Given the description of an element on the screen output the (x, y) to click on. 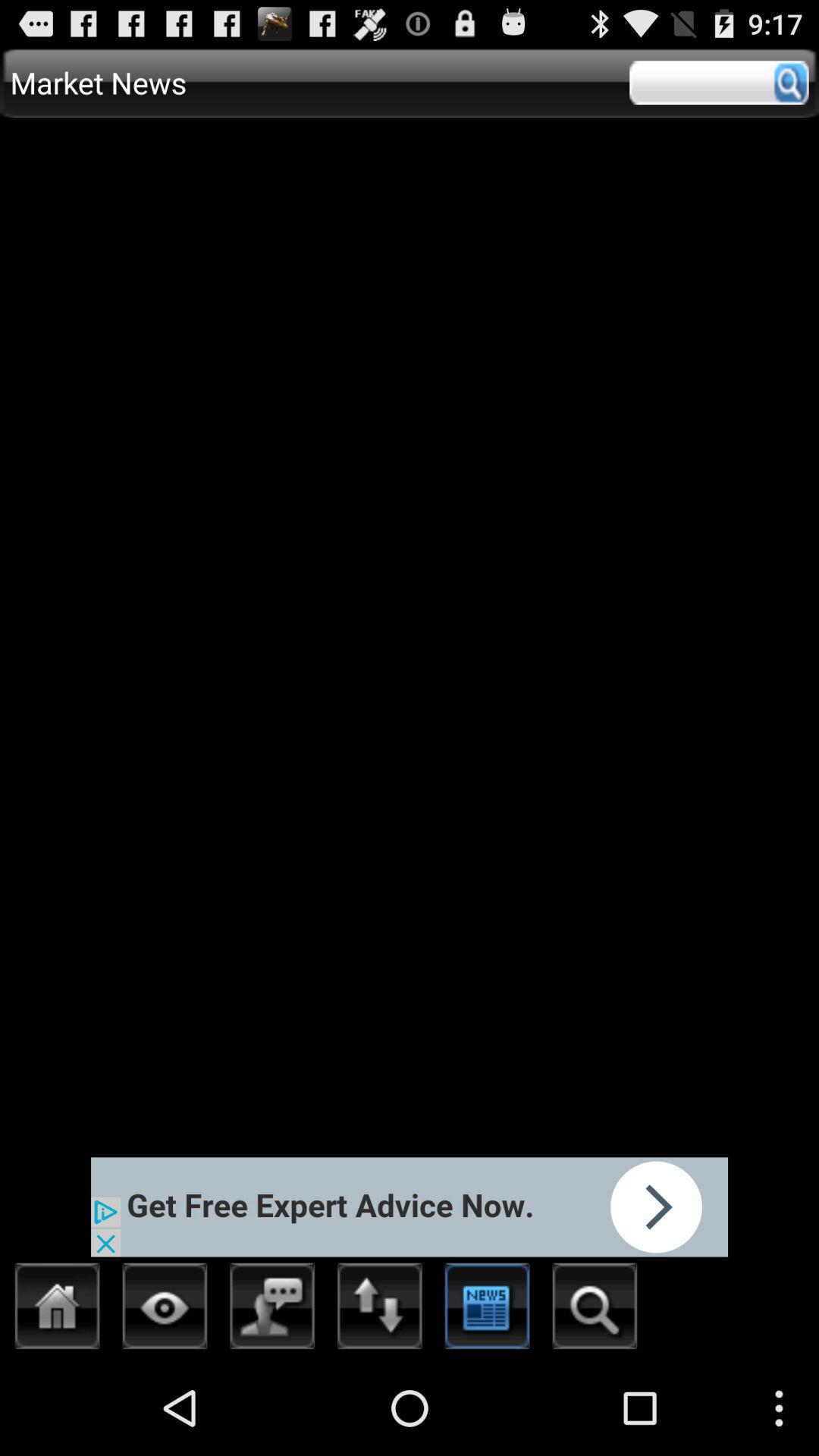
go to home page (57, 1310)
